Given the description of an element on the screen output the (x, y) to click on. 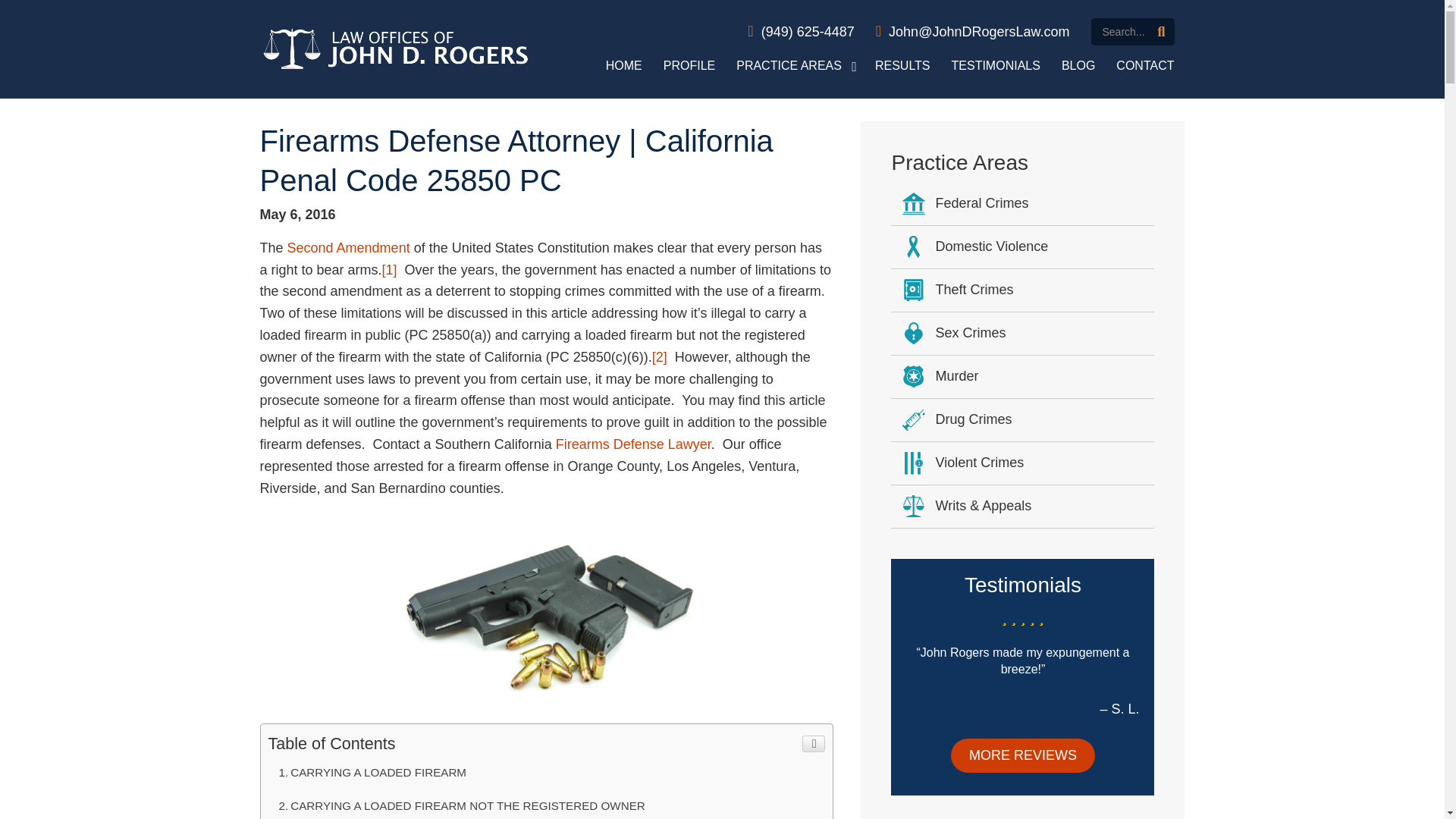
Search (1131, 31)
CARRYING A LOADED FIREARM (546, 771)
Submit (1160, 32)
PRACTICE AREAS (794, 65)
Second Amendment (348, 247)
PROFILE (688, 65)
RESULTS (902, 65)
CONTACT (1145, 65)
TESTIMONIALS (995, 65)
Firearms Defense Lawyer (633, 444)
CARRYING A LOADED FIREARM NOT THE REGISTERED OWNER (546, 804)
BLOG (1078, 65)
HOME (623, 65)
